Given the description of an element on the screen output the (x, y) to click on. 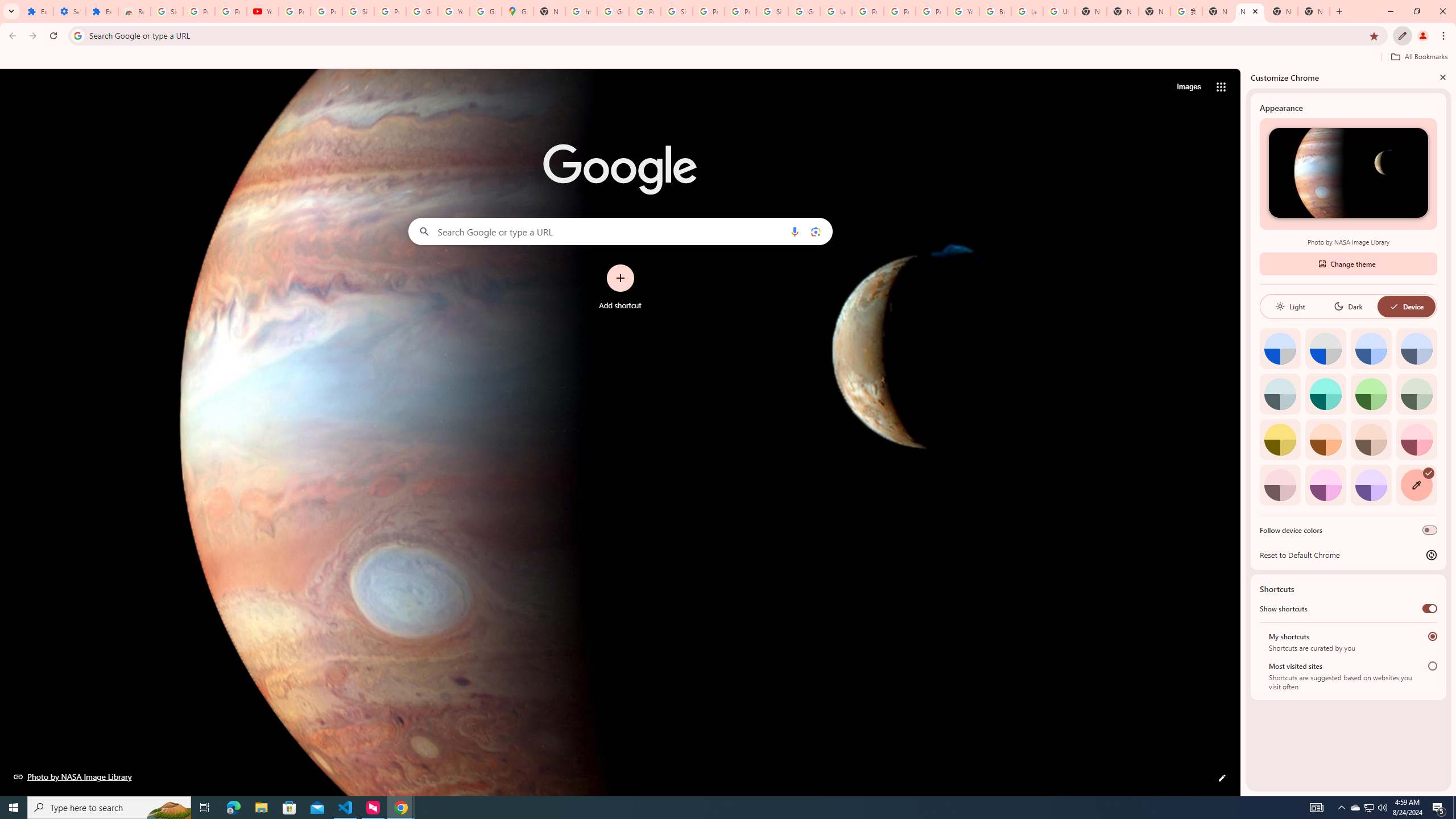
Google Account (421, 11)
Aqua (1325, 393)
AutomationID: baseSvg (1394, 306)
Dark (1348, 305)
My shortcuts (1432, 636)
